Given the description of an element on the screen output the (x, y) to click on. 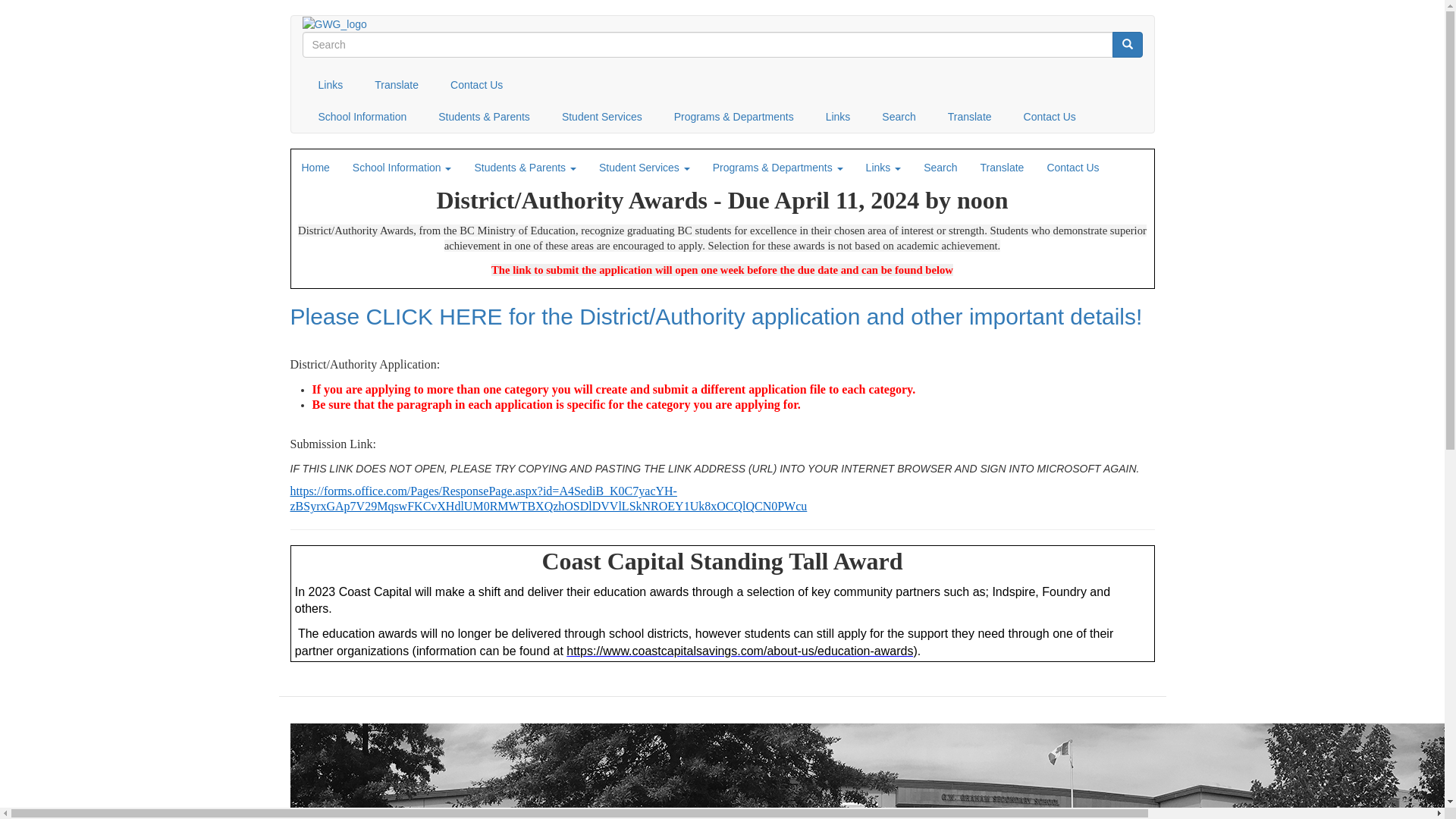
Translate Element type: text (1002, 167)
Student Services Element type: text (644, 167)
Contact Us Element type: text (1072, 167)
Translate Element type: text (396, 84)
Translate Element type: text (969, 116)
Home Element type: text (314, 167)
Programs & Departments Element type: text (733, 116)
Links Element type: text (329, 84)
Students & Parents Element type: text (524, 167)
Links Element type: text (837, 116)
Search Element type: text (1126, 44)
School Information Element type: text (402, 167)
Programs & Departments Element type: text (777, 167)
School Information Element type: text (361, 116)
Contact Us Element type: text (476, 84)
Search Element type: text (940, 167)
Skip to main content Element type: text (0, 15)
Student Services Element type: text (602, 116)
Links Element type: text (883, 167)
Enter the terms you wish to search for. Element type: hover (706, 44)
Students & Parents Element type: text (484, 116)
Contact Us Element type: text (1049, 116)
Search Element type: text (898, 116)
